Given the description of an element on the screen output the (x, y) to click on. 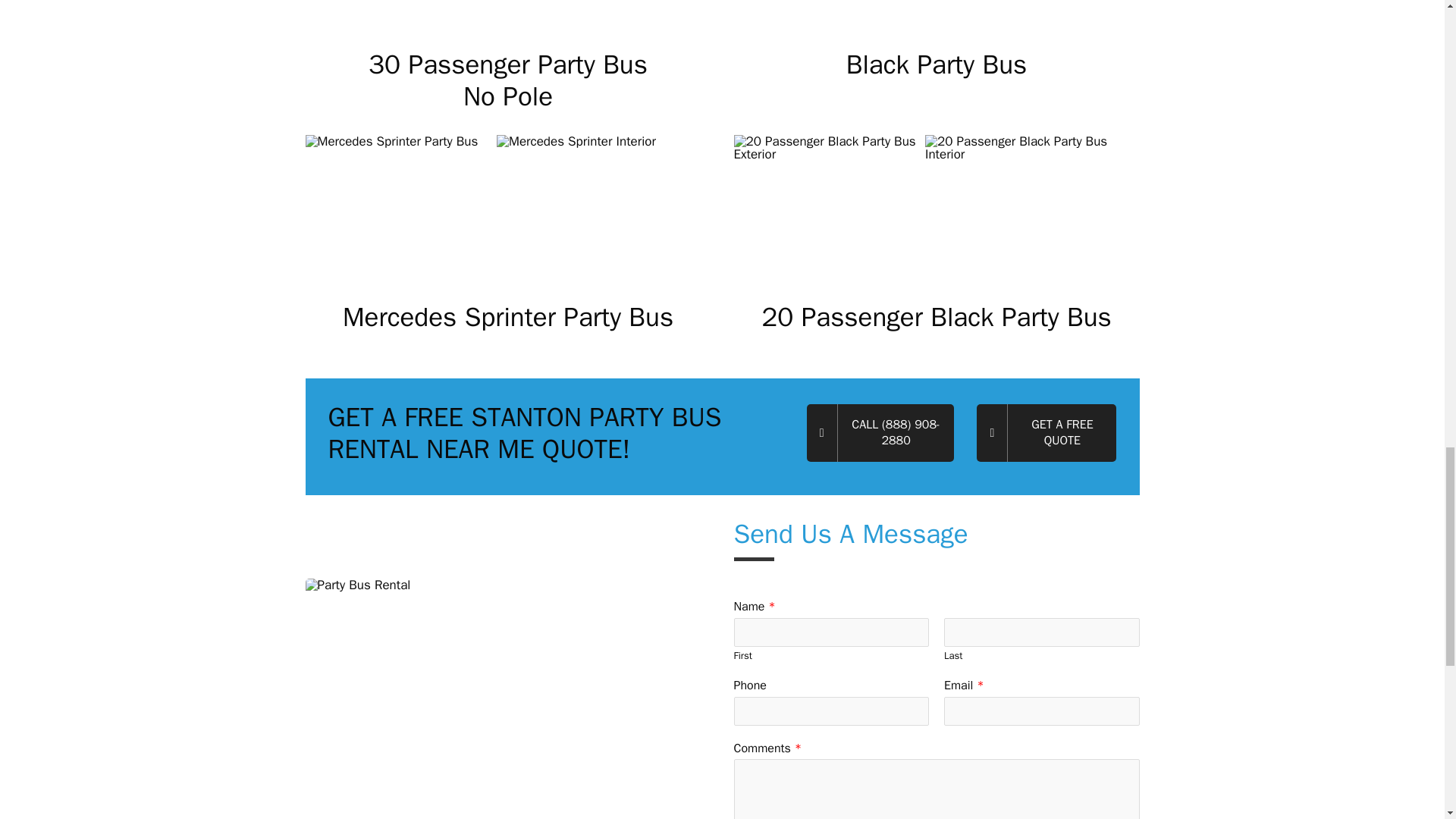
Black Party Bus (829, 12)
30 Passenger (400, 12)
GET A FREE QUOTE (1046, 432)
Black Party Bus Interior (1020, 12)
30 Passenger No Pole (592, 12)
Mercedes Sprinter Party Bus (400, 206)
Mercedes Sprinter Interior (592, 206)
